Given the description of an element on the screen output the (x, y) to click on. 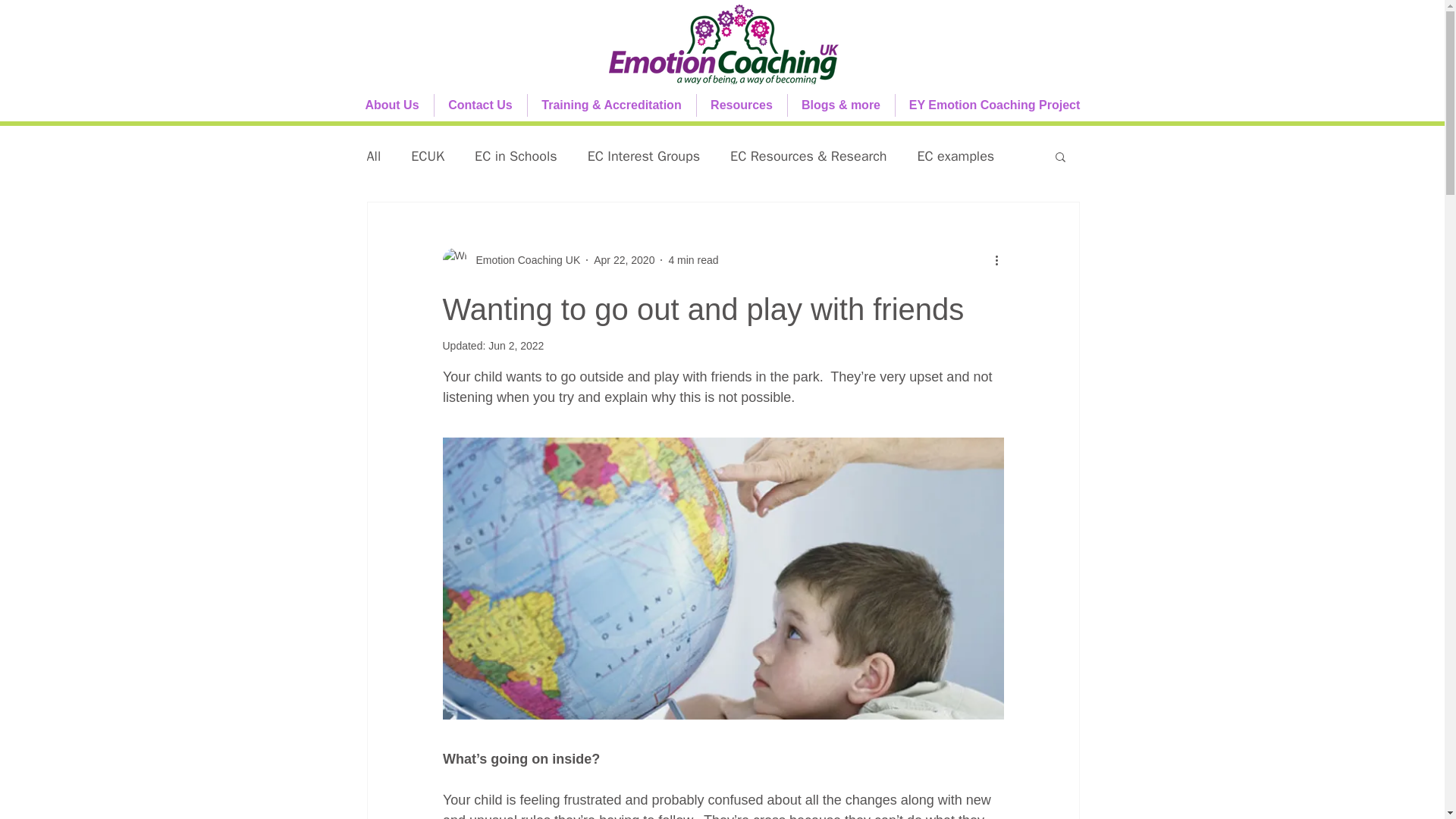
EC examples (955, 156)
Emotion Coaching UK (523, 259)
Contact Us (479, 105)
About Us (391, 105)
EC Interest Groups (644, 156)
EC in Schools (515, 156)
4 min read (692, 259)
ECUK (427, 156)
Jun 2, 2022 (515, 345)
Apr 22, 2020 (623, 259)
